Given the description of an element on the screen output the (x, y) to click on. 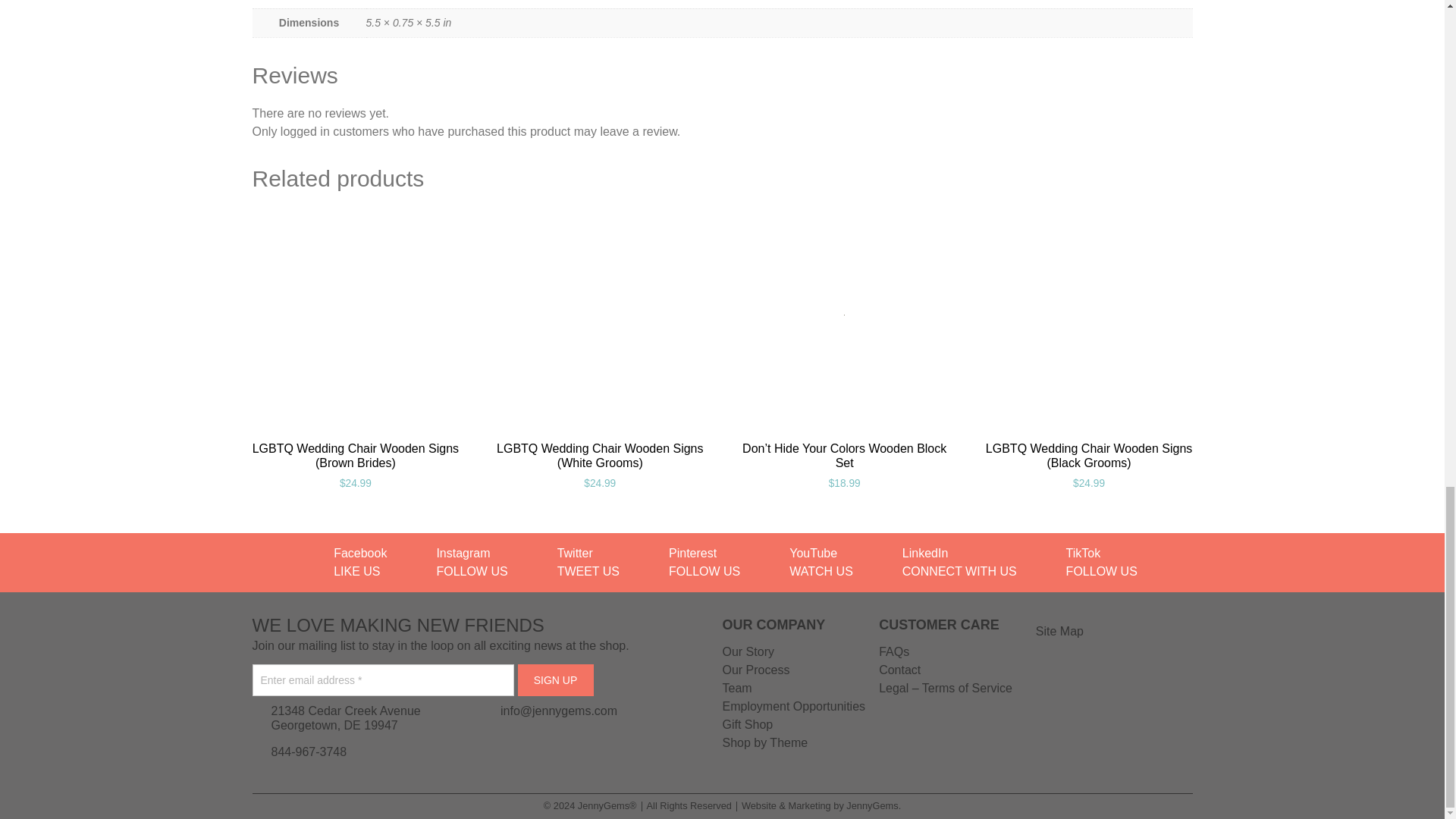
SIGN UP (554, 680)
